Given the description of an element on the screen output the (x, y) to click on. 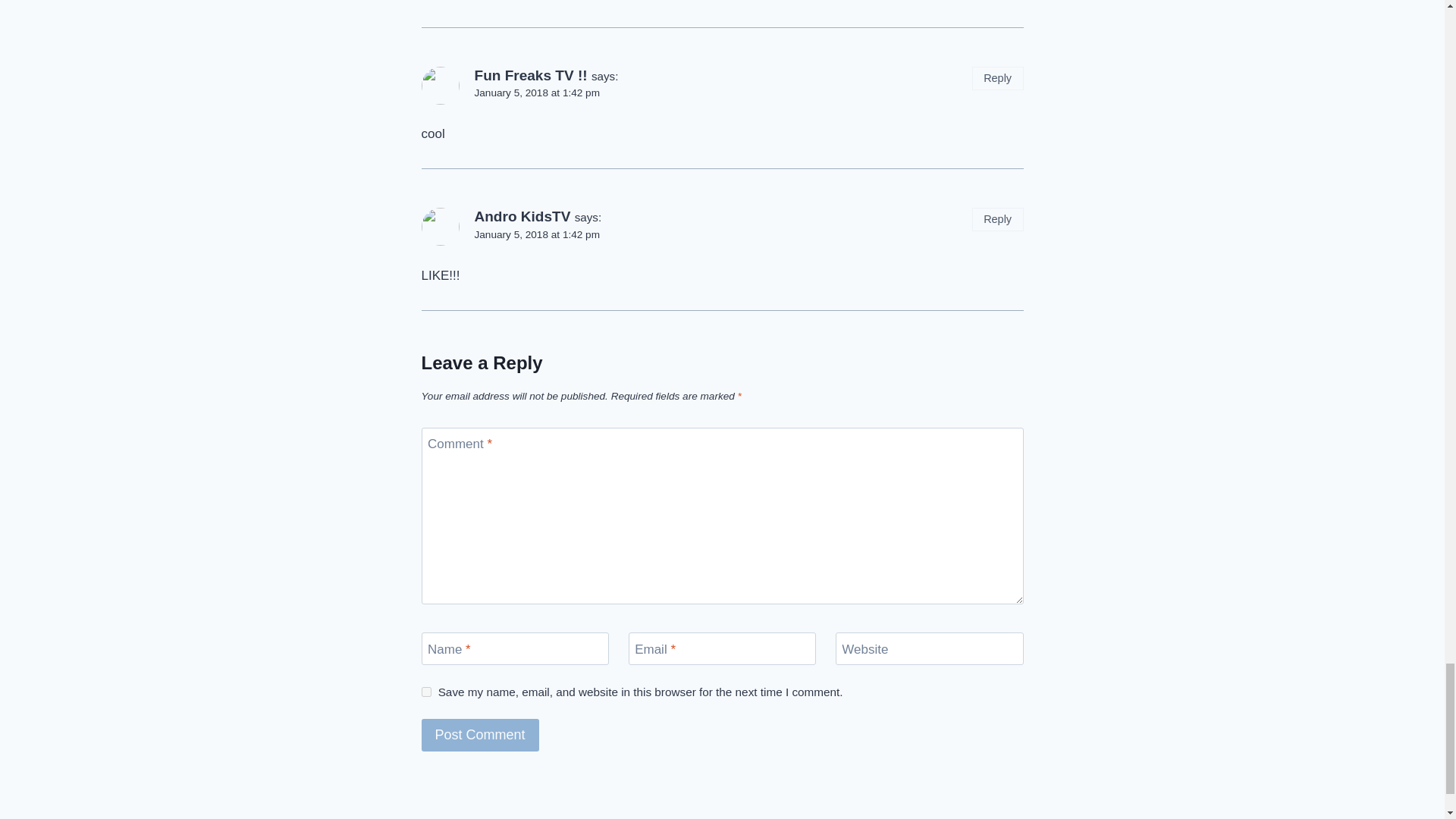
Post Comment (480, 735)
yes (426, 691)
